Given the description of an element on the screen output the (x, y) to click on. 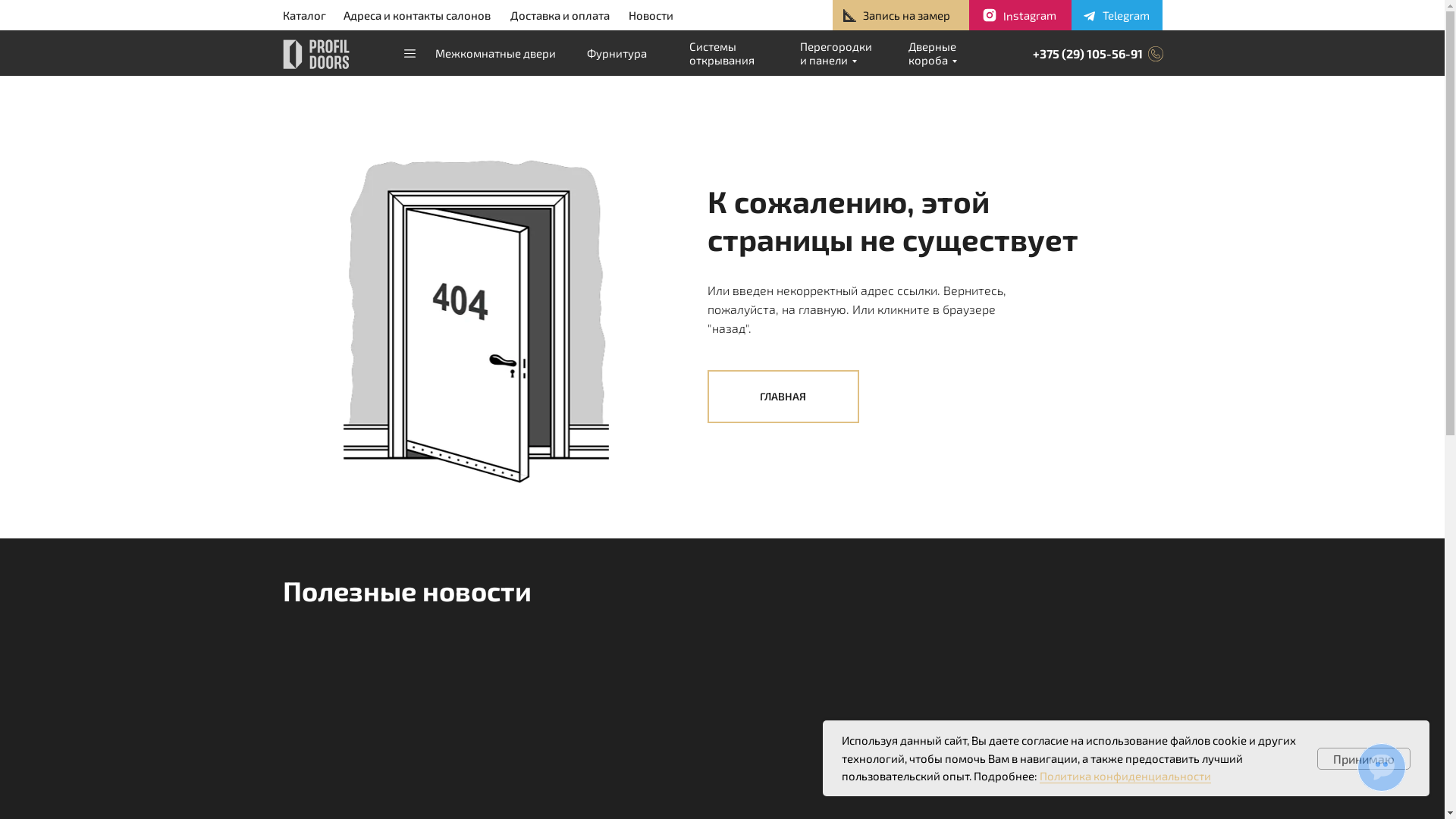
+375 (29) 105-56-91 Element type: text (1087, 53)
